Given the description of an element on the screen output the (x, y) to click on. 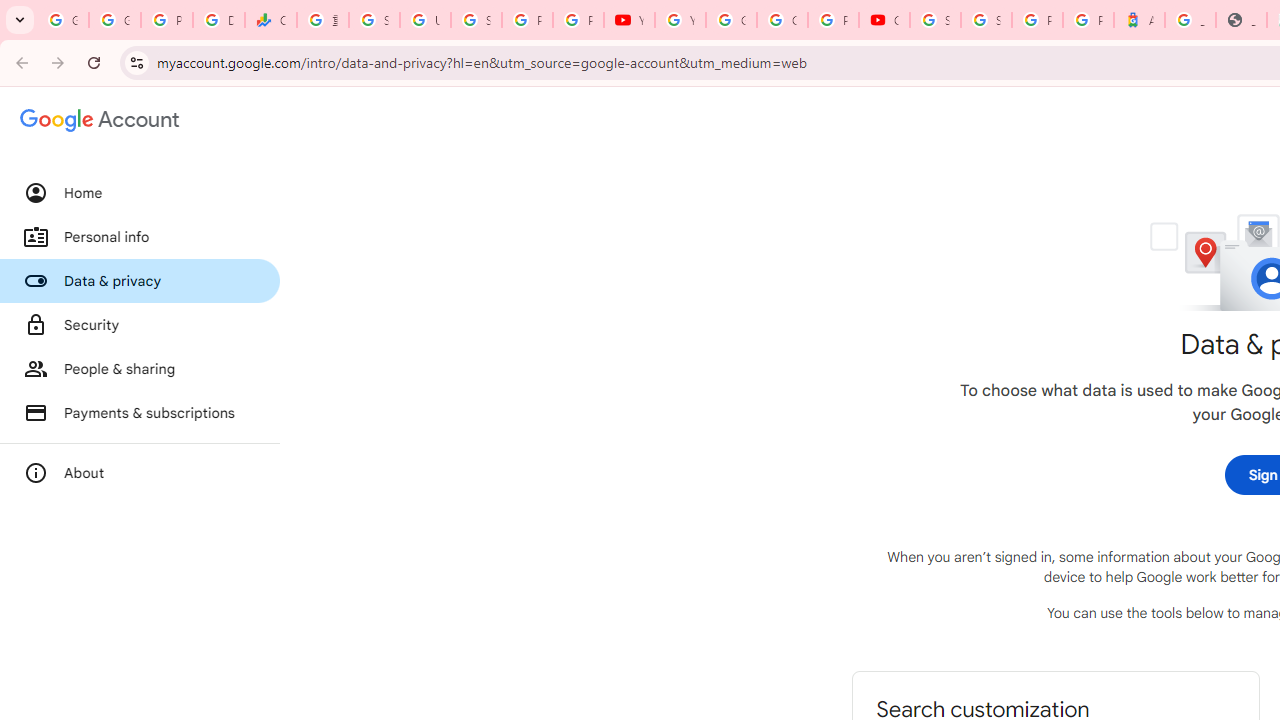
Google Account Help (731, 20)
Home (140, 193)
Sign in - Google Accounts (935, 20)
Sign in - Google Accounts (374, 20)
Personal info (140, 237)
Payments & subscriptions (140, 412)
More information about the Google Account (140, 472)
